Given the description of an element on the screen output the (x, y) to click on. 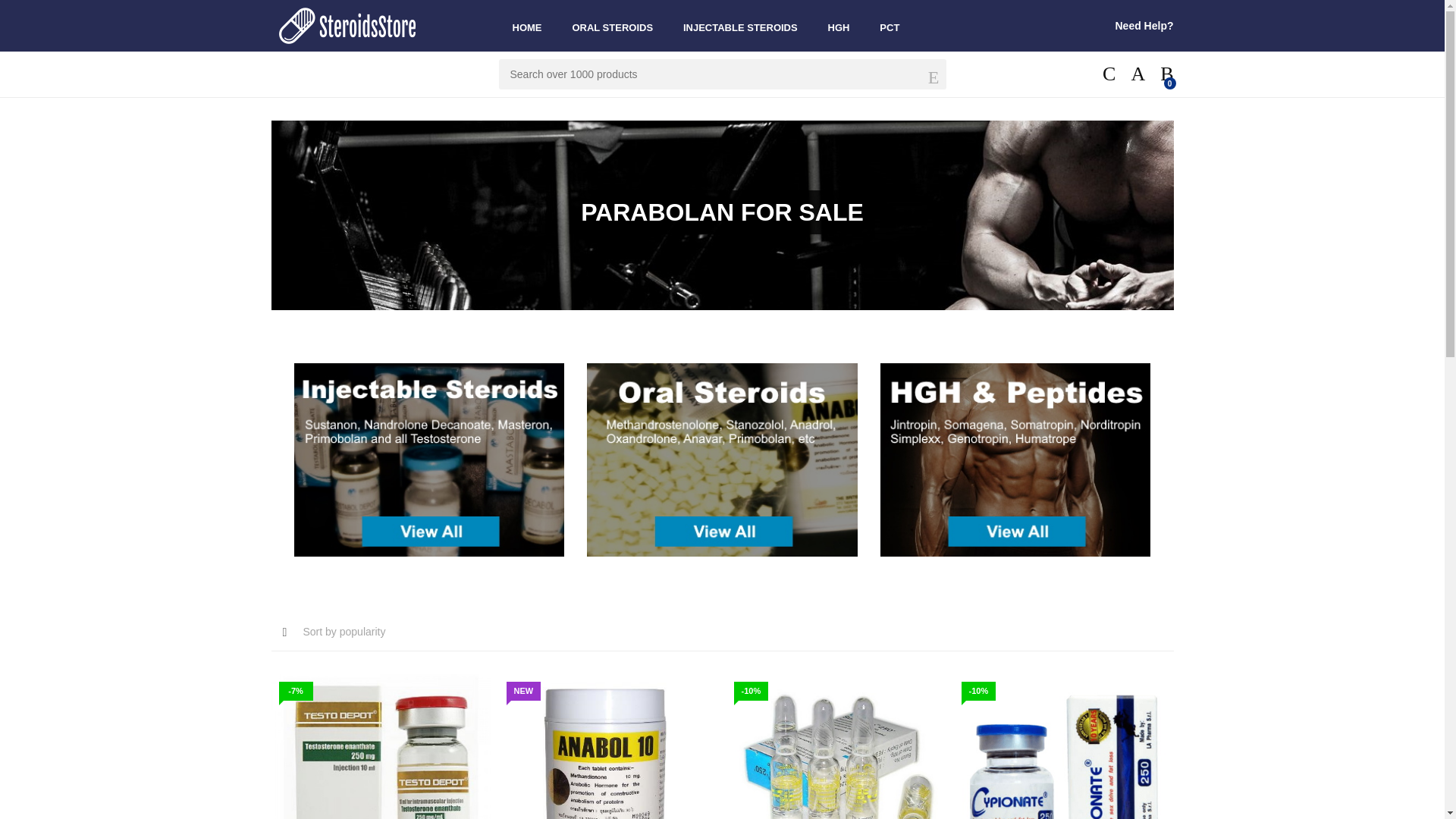
Need Help? (1144, 25)
ORAL STEROIDS (611, 25)
INJECTABLE STEROIDS (739, 25)
HOME (527, 25)
PCT (889, 25)
HGH (838, 25)
